Given the description of an element on the screen output the (x, y) to click on. 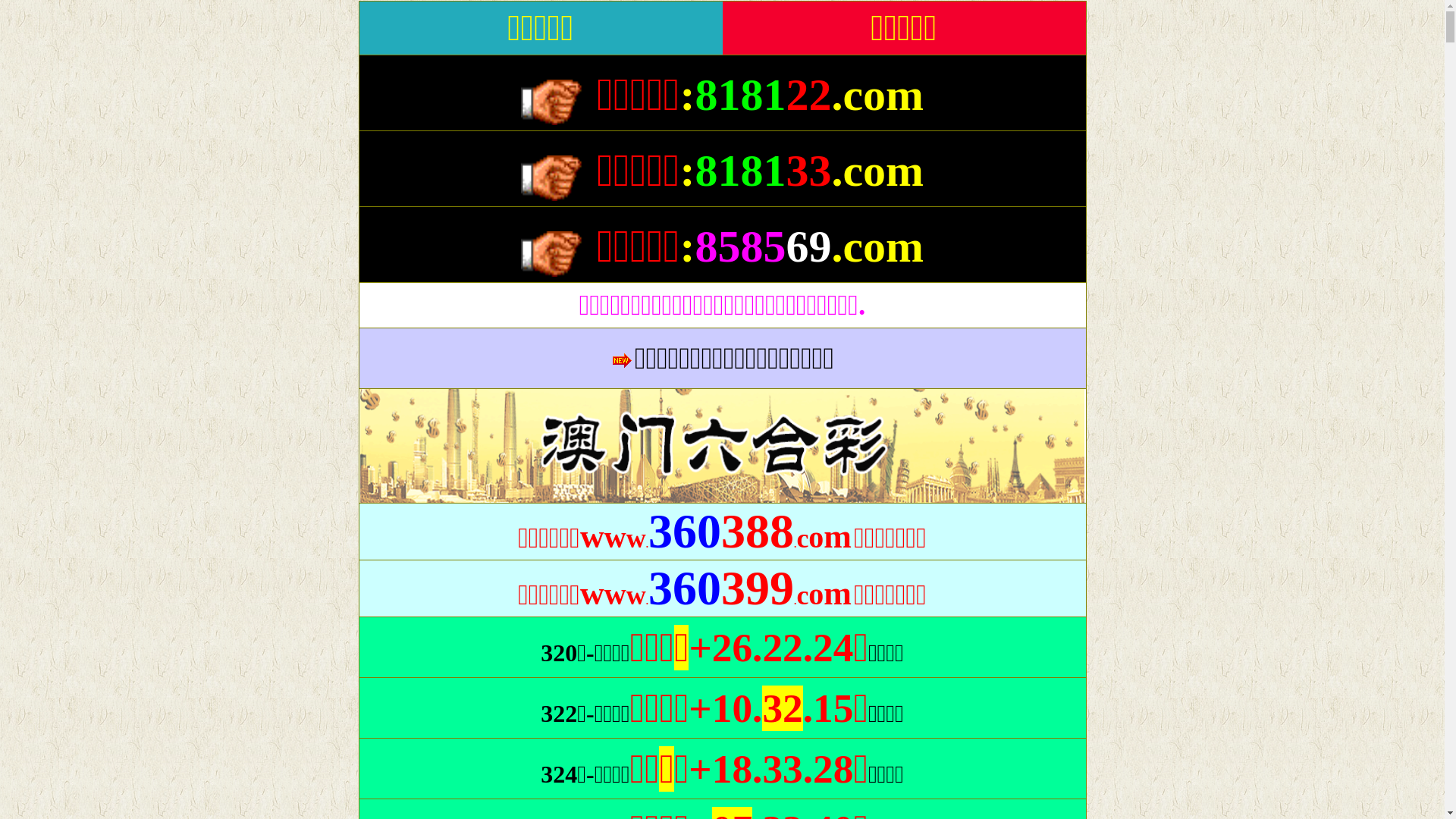
w. Element type: text (637, 538)
w Element type: text (615, 542)
360388 Element type: text (720, 542)
360399 Element type: text (720, 599)
w Element type: text (615, 599)
w. Element type: text (637, 594)
